Given the description of an element on the screen output the (x, y) to click on. 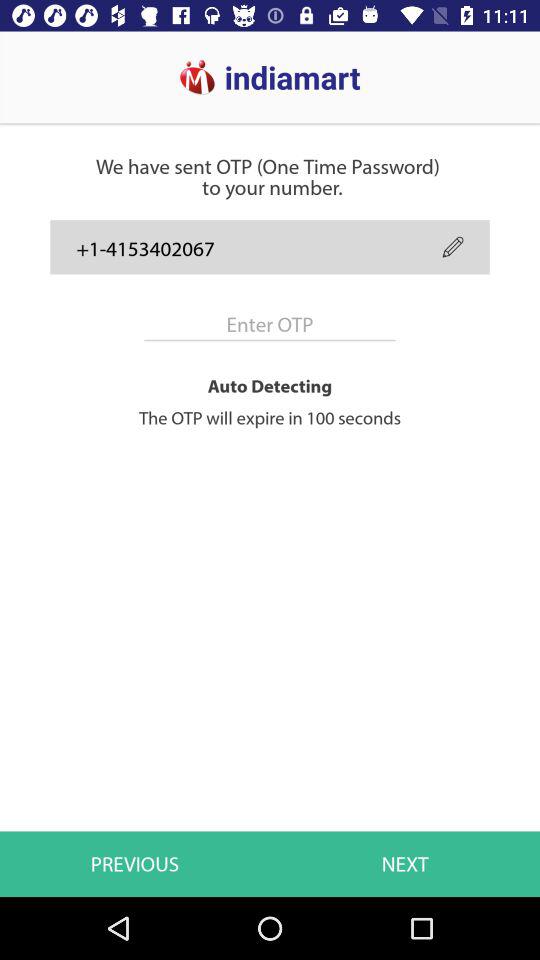
launch the previous icon (135, 863)
